Given the description of an element on the screen output the (x, y) to click on. 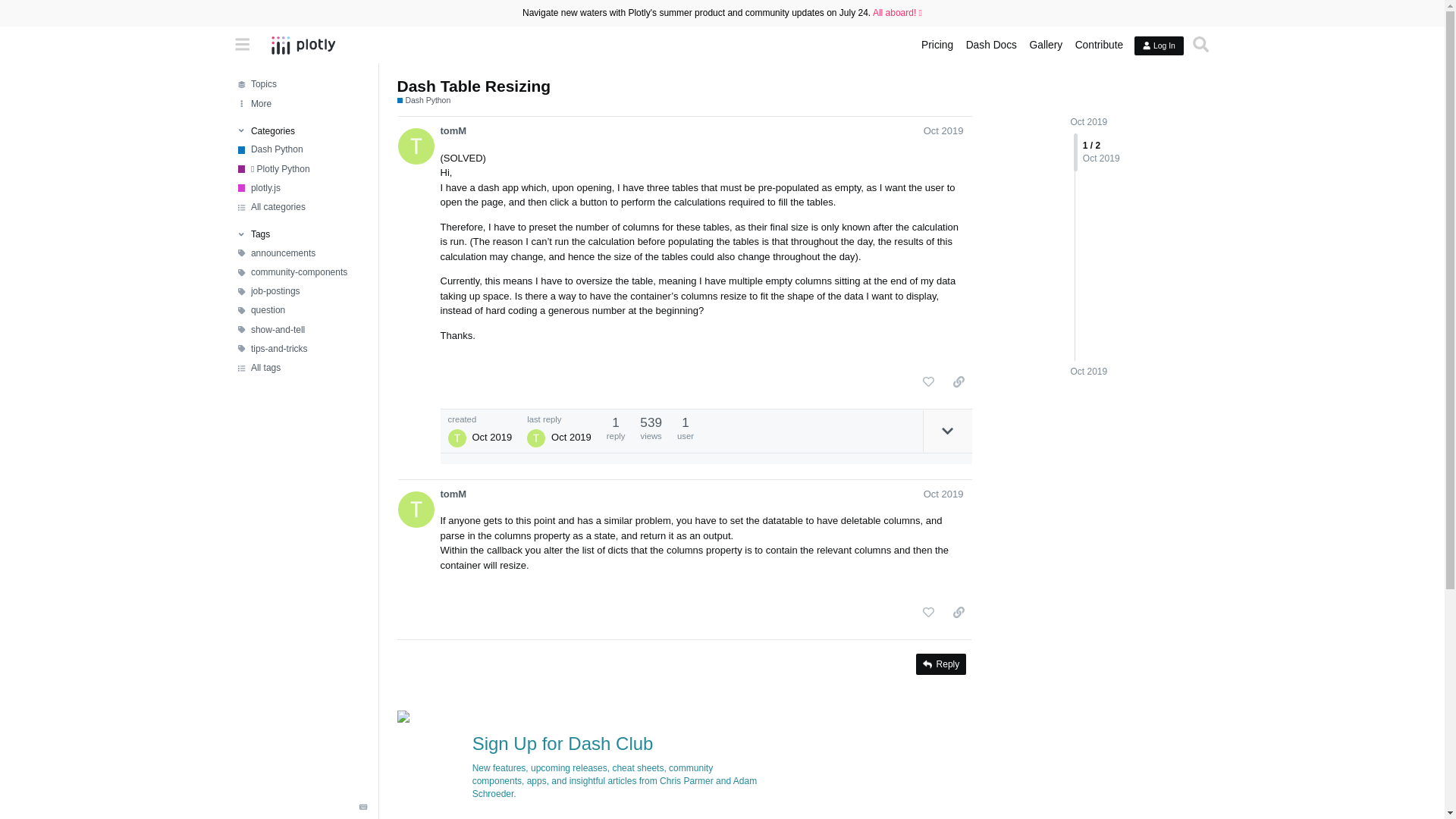
Sidebar (243, 44)
Search (1201, 44)
More (301, 103)
All categories (301, 207)
All topics (301, 84)
Dash Docs (991, 45)
show-and-tell (301, 329)
Log In (1158, 45)
7 Ways to Contribute (1098, 45)
community-components (301, 271)
Dash Python (301, 149)
Pricing (937, 45)
Categories (300, 131)
tomM (452, 131)
question (301, 310)
